Given the description of an element on the screen output the (x, y) to click on. 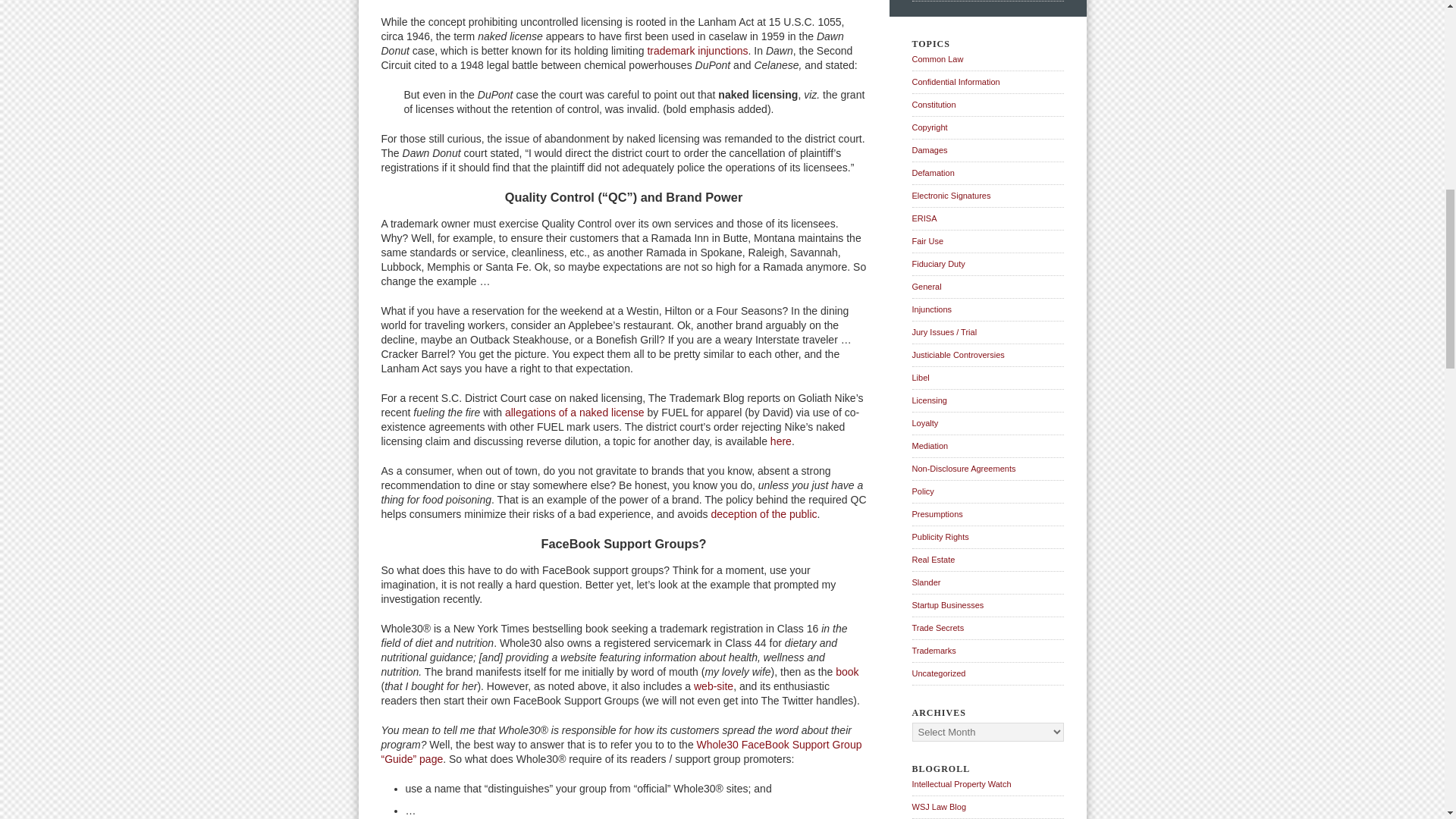
deception of the public (763, 513)
allegations of a naked license (575, 412)
here (781, 440)
web-site (713, 686)
book (847, 671)
trademark injunctions (697, 50)
